Given the description of an element on the screen output the (x, y) to click on. 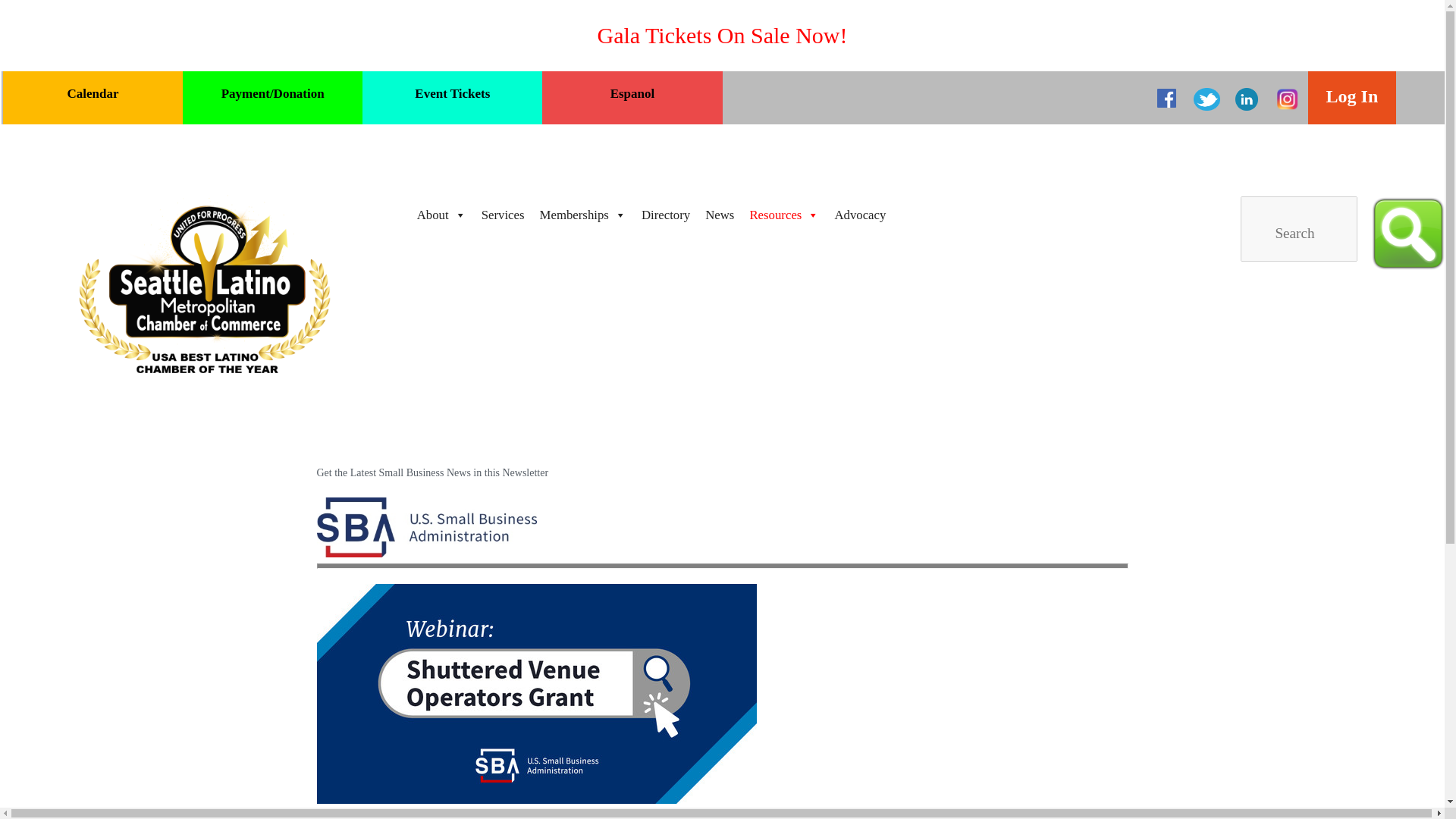
News (719, 214)
Log In (1351, 96)
Gala Tickets On Sale Now! (721, 34)
About (441, 214)
Services (503, 214)
Memberships (582, 214)
Event Tickets (451, 93)
Espanol (631, 93)
Calendar (92, 93)
Directory (665, 214)
